Given the description of an element on the screen output the (x, y) to click on. 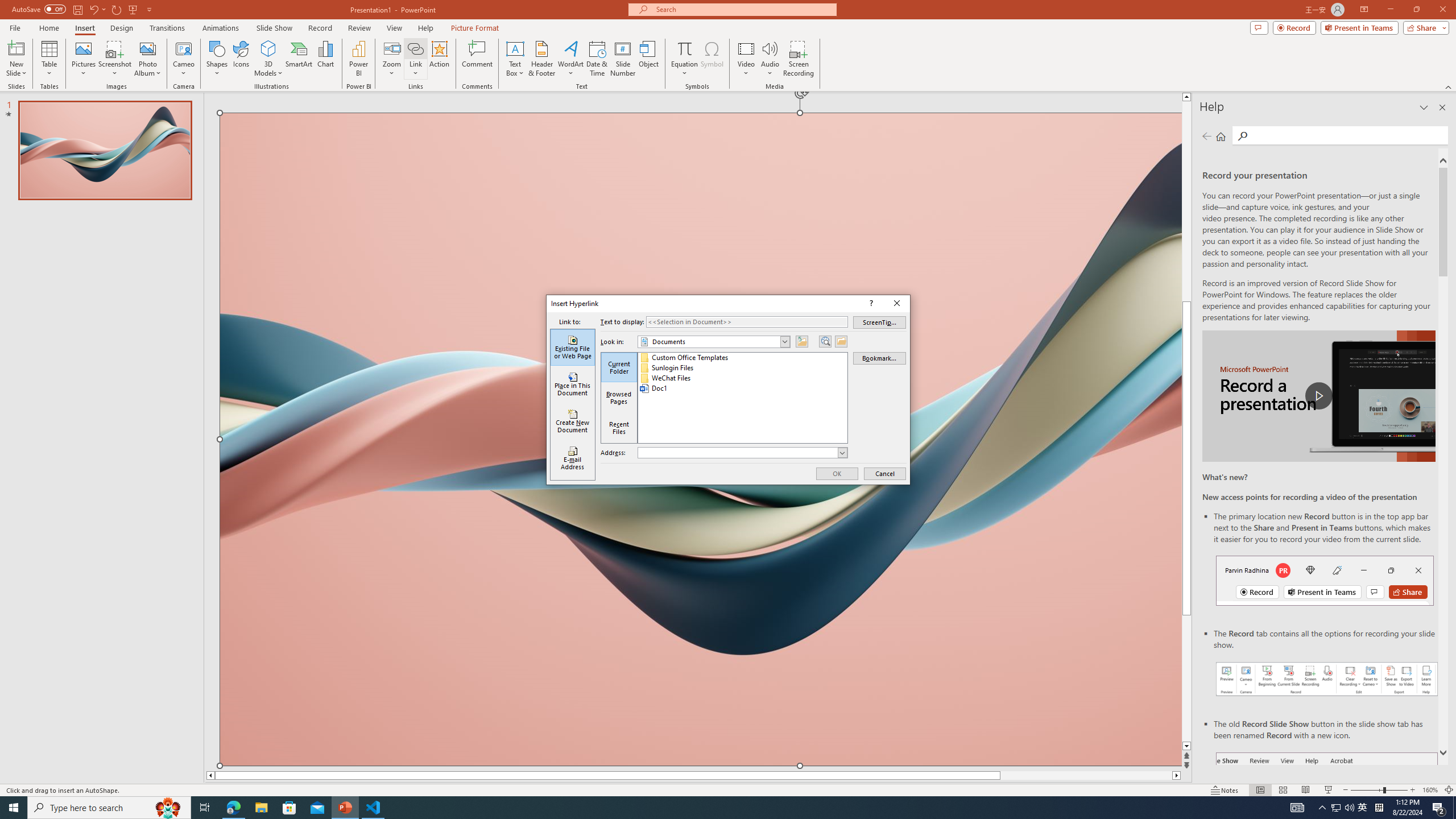
Screenshot (114, 58)
Address: (742, 452)
Symbol... (711, 58)
Text to display: (746, 321)
